Given the description of an element on the screen output the (x, y) to click on. 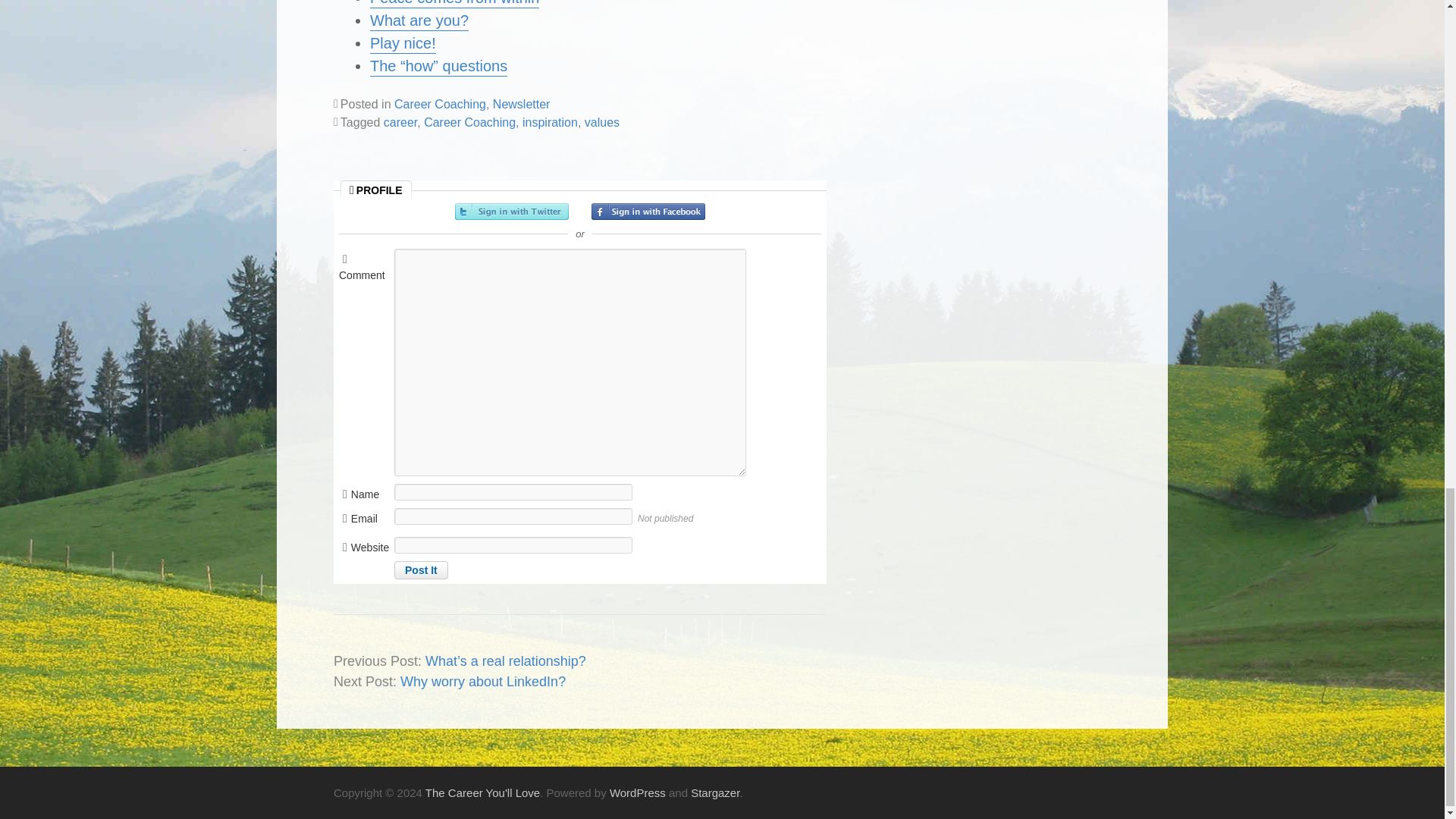
career (400, 122)
The Career You'll Love (482, 792)
Sign in with Twitter (511, 211)
Career Coaching (469, 122)
10 January 2011 (437, 66)
inspiration (550, 122)
Why worry about LinkedIn? (483, 681)
Career Coaching (440, 103)
Play nice! (402, 44)
Newsletter (521, 103)
